Given the description of an element on the screen output the (x, y) to click on. 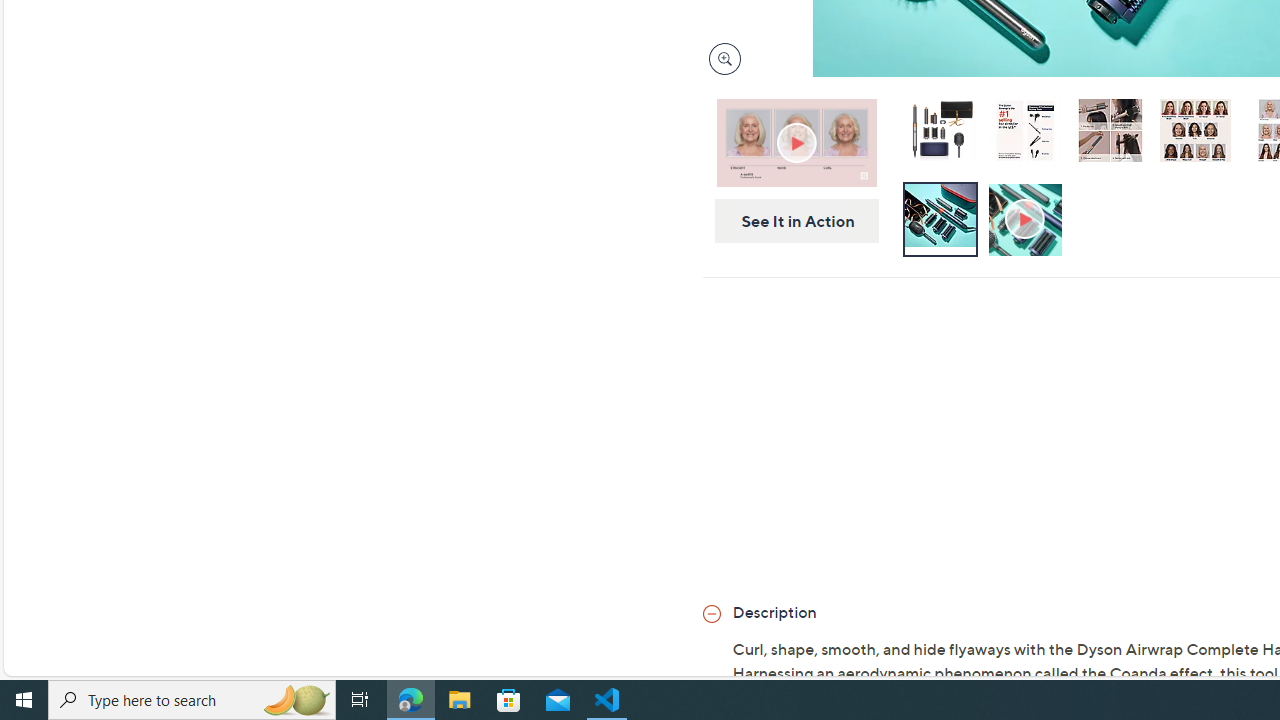
On-Air Presentation (795, 142)
How to Use (1027, 219)
Dyson Airwrap Complete with Paddle Brush and Travel Pouch (939, 129)
See It in Action (790, 221)
Zoom product image, opens image gallery dialog (719, 59)
